Given the description of an element on the screen output the (x, y) to click on. 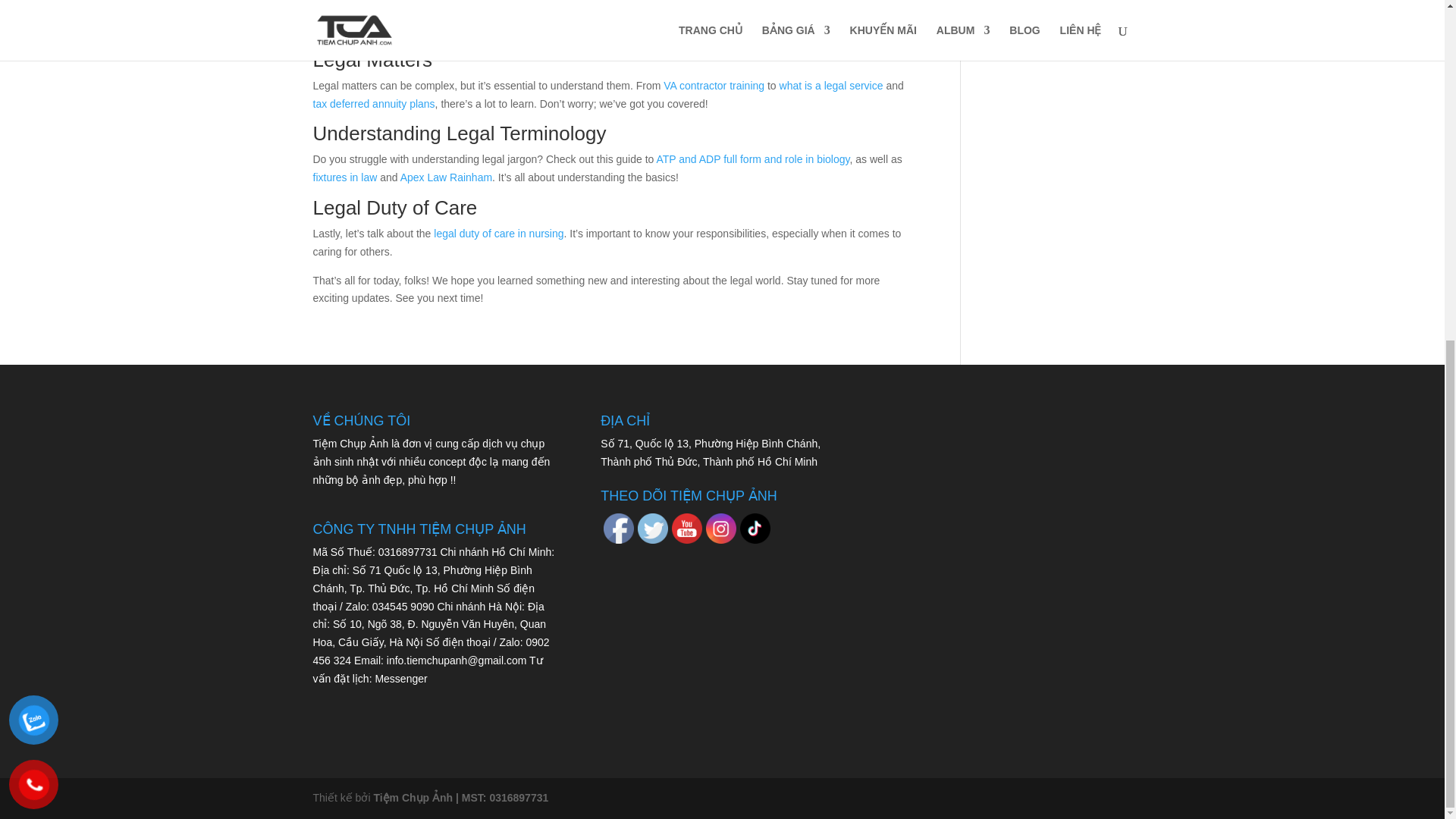
Tiktok (754, 528)
Twitter (652, 528)
Facebook (618, 528)
Instagram (721, 528)
YouTube (686, 528)
